Given the description of an element on the screen output the (x, y) to click on. 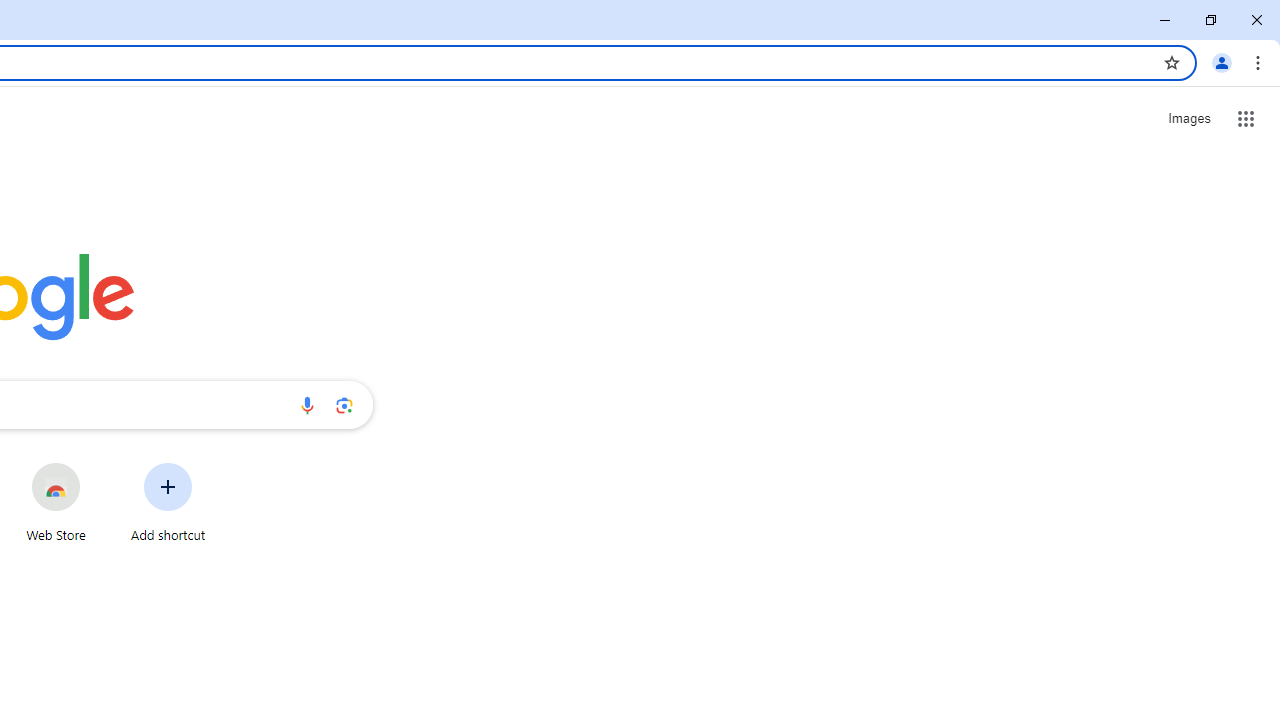
More actions for Web Store shortcut (95, 464)
Web Store (56, 502)
